Given the description of an element on the screen output the (x, y) to click on. 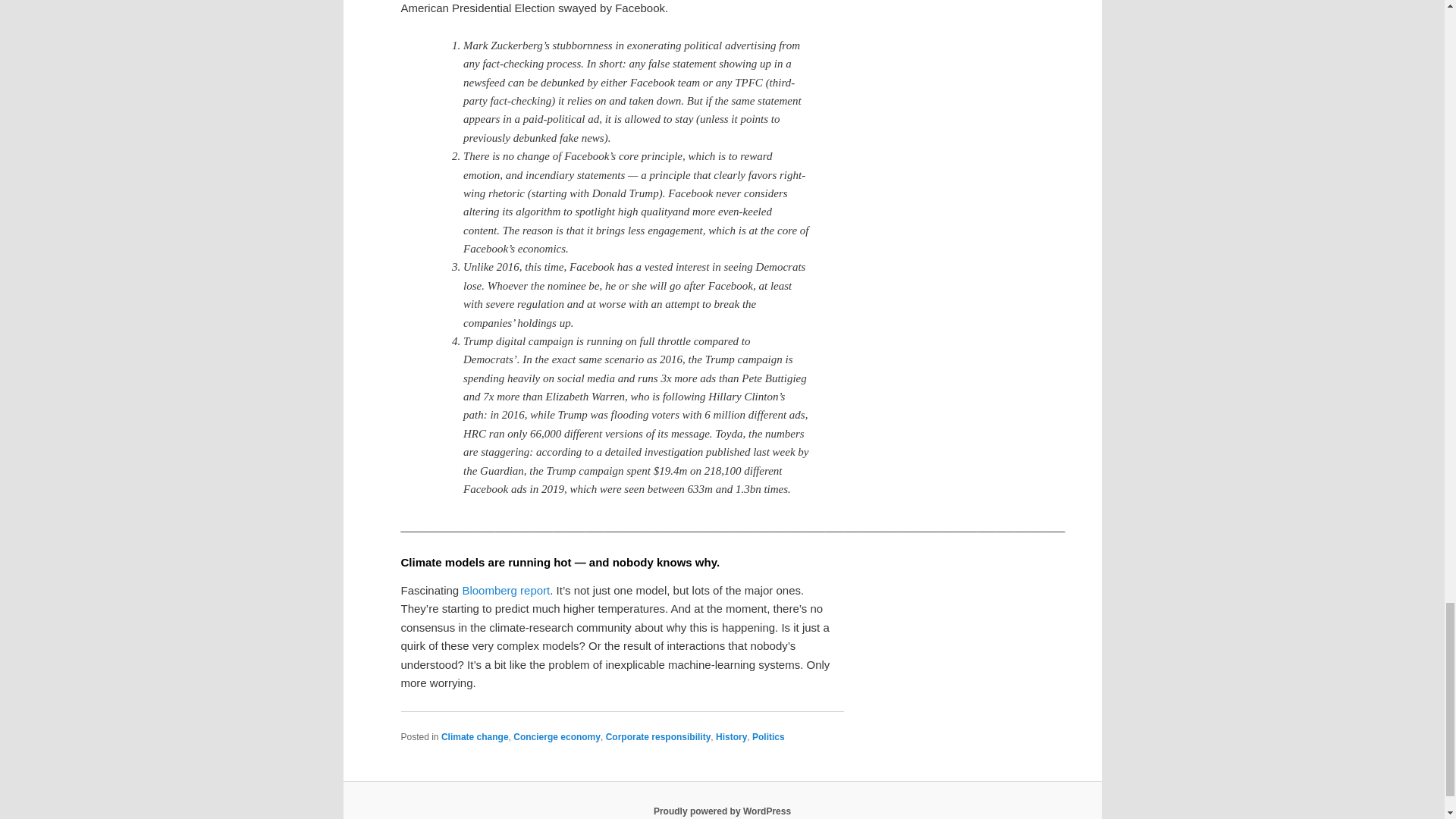
Corporate responsibility (658, 737)
Concierge economy (556, 737)
Climate change (474, 737)
Semantic Personal Publishing Platform (721, 810)
Bloomberg report (505, 590)
History (731, 737)
Politics (768, 737)
